Given the description of an element on the screen output the (x, y) to click on. 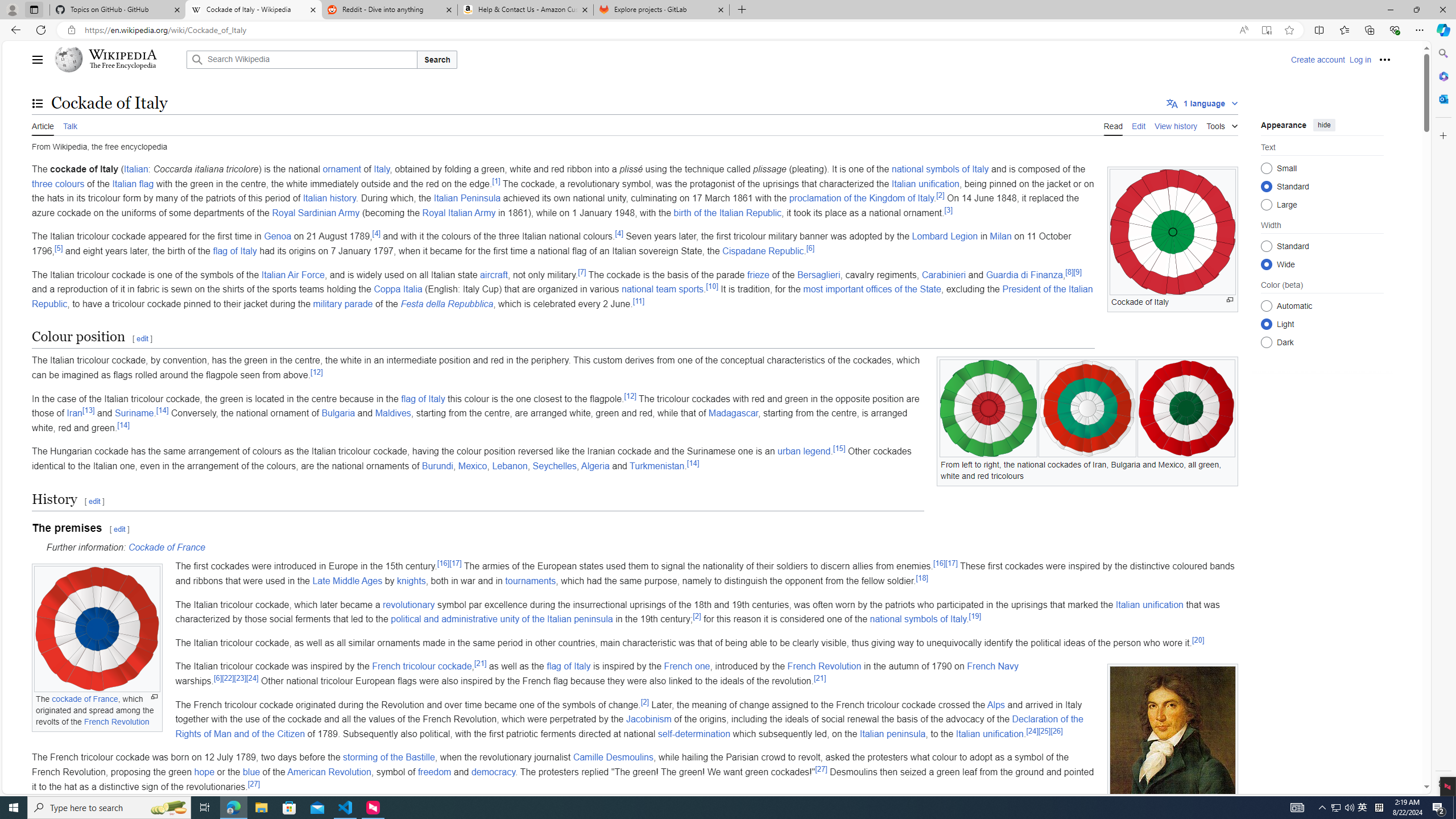
[18] (921, 577)
Festa della Repubblica (446, 303)
Minimize (1390, 9)
Camille Desmoulins (612, 757)
Tab actions menu (33, 9)
Bulgaria (338, 413)
Italian unification (989, 733)
Cockade of Italy - Wikipedia (253, 9)
Italian history (329, 198)
Suriname (134, 413)
[8] (1069, 271)
proclamation of the Kingdom of Italy (861, 198)
[20] (1197, 639)
Close (1442, 9)
New Tab (741, 9)
